Given the description of an element on the screen output the (x, y) to click on. 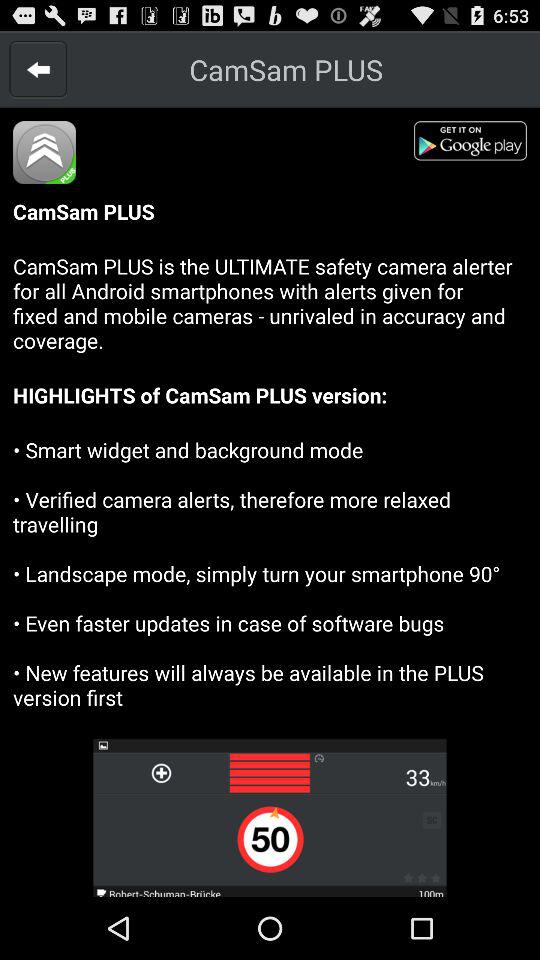
select the icon next to camsam plus (38, 69)
